Given the description of an element on the screen output the (x, y) to click on. 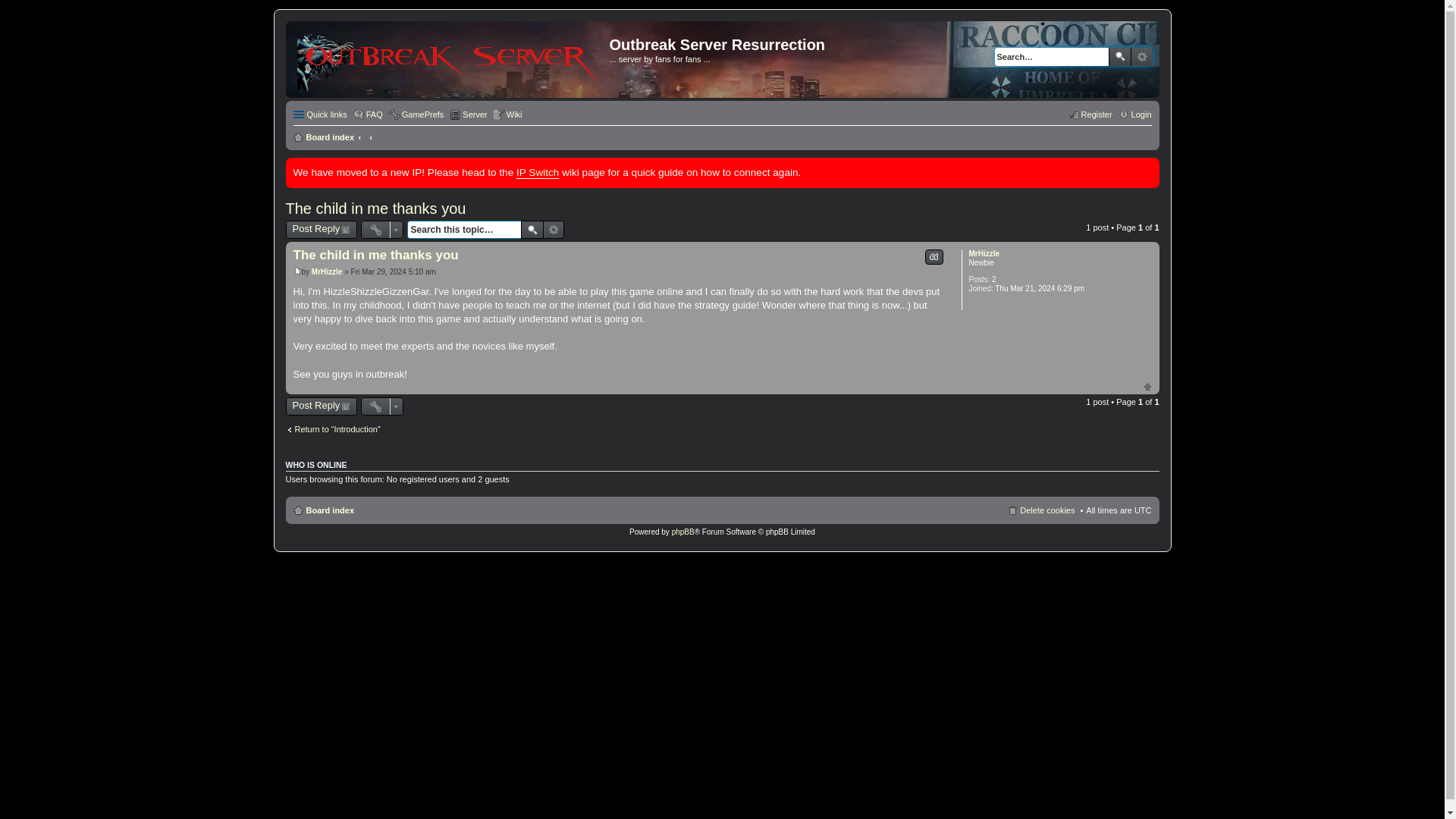
Search (1119, 56)
Server (467, 114)
The child in me thanks you (375, 255)
Board index (322, 510)
Login (1134, 114)
Search for keywords (1051, 56)
MrHizzle (326, 271)
Post (296, 271)
Advanced search (1141, 56)
Server (467, 114)
